Given the description of an element on the screen output the (x, y) to click on. 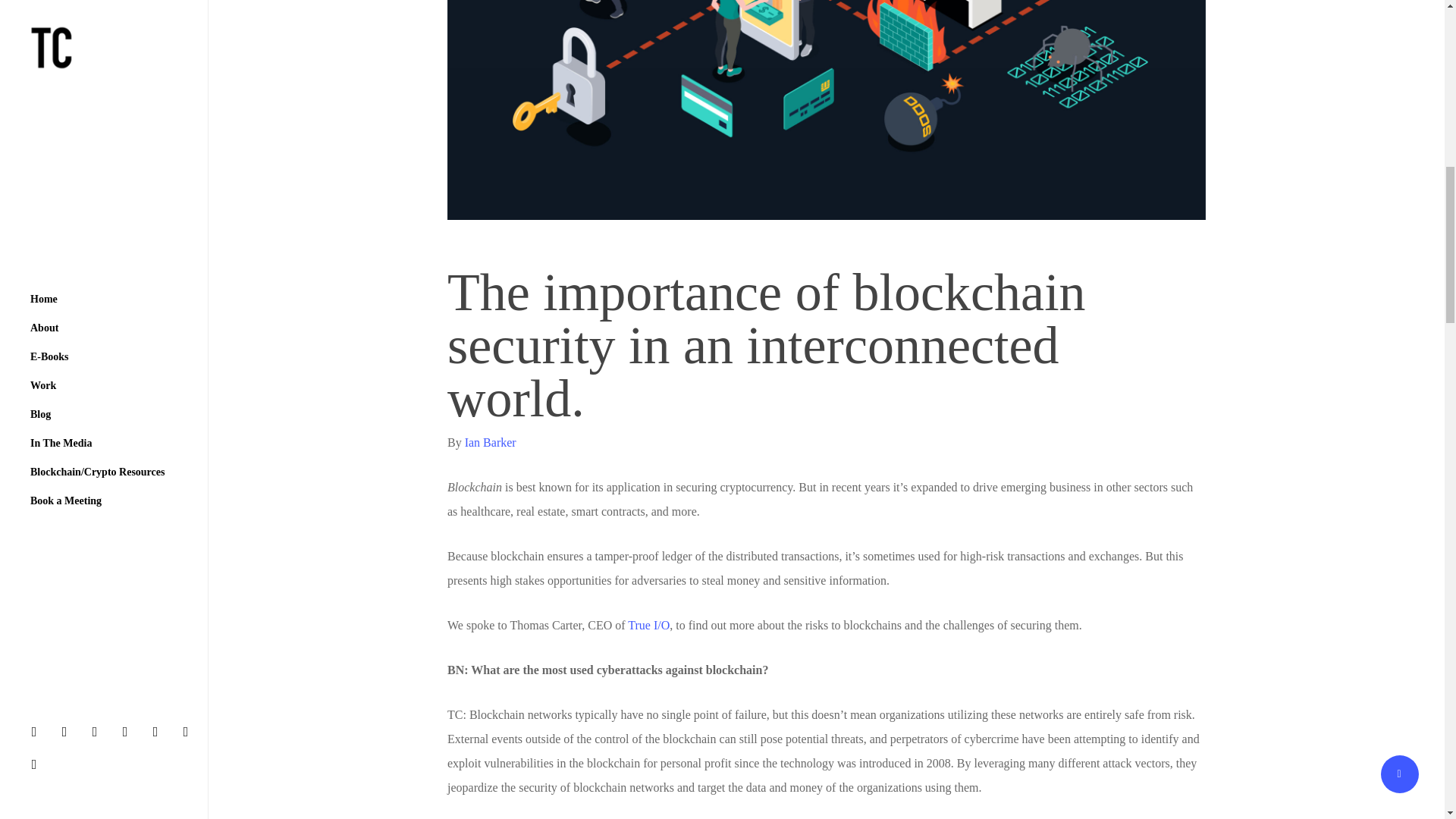
Ian Barker (490, 441)
